Given the description of an element on the screen output the (x, y) to click on. 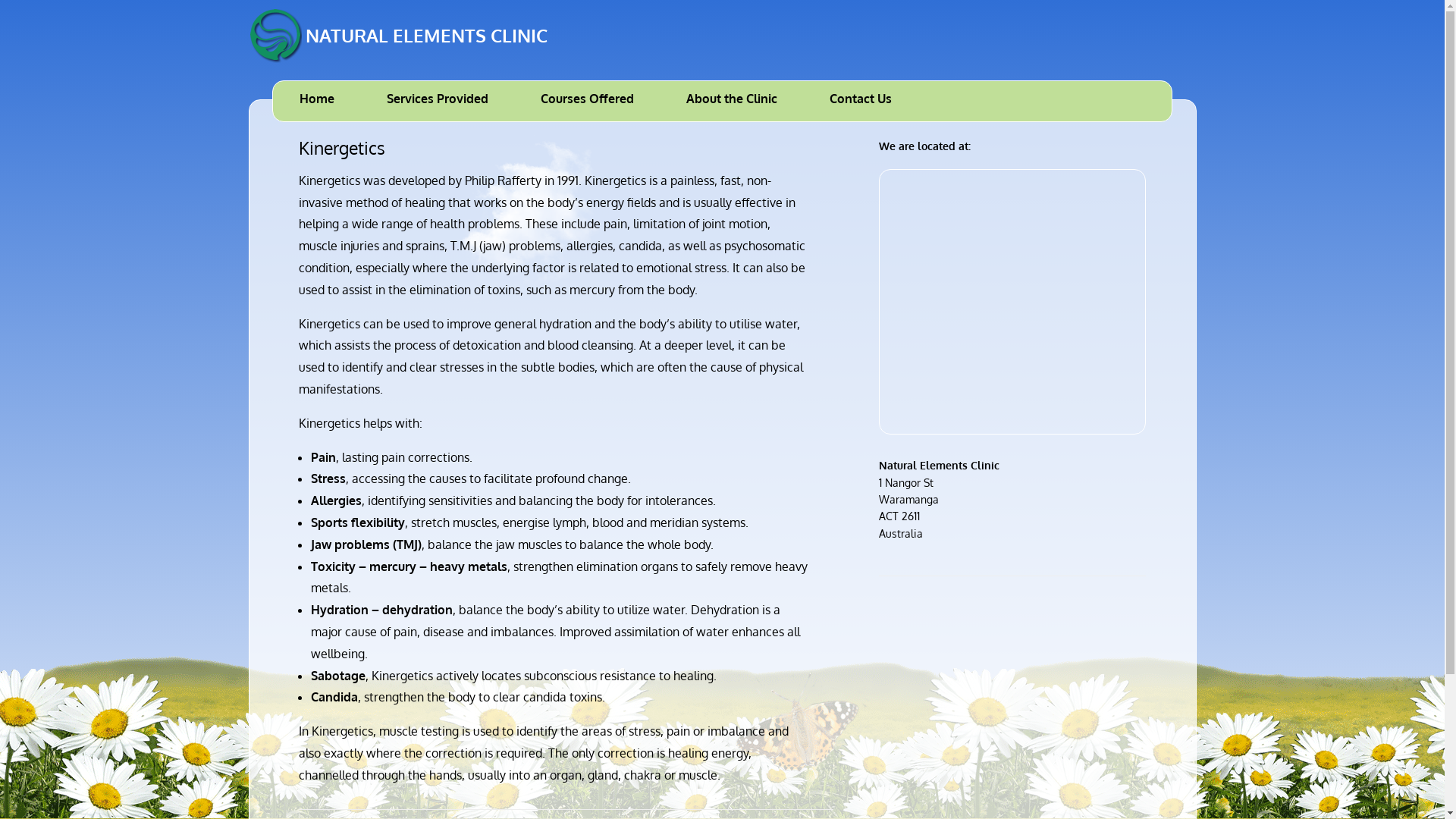
About the Clinic Element type: text (731, 101)
Contact Us Element type: text (860, 101)
Courses Offered Element type: text (587, 101)
Services Provided Element type: text (437, 101)
Home Element type: text (316, 101)
NATURAL ELEMENTS CLINIC Element type: text (397, 35)
